Given the description of an element on the screen output the (x, y) to click on. 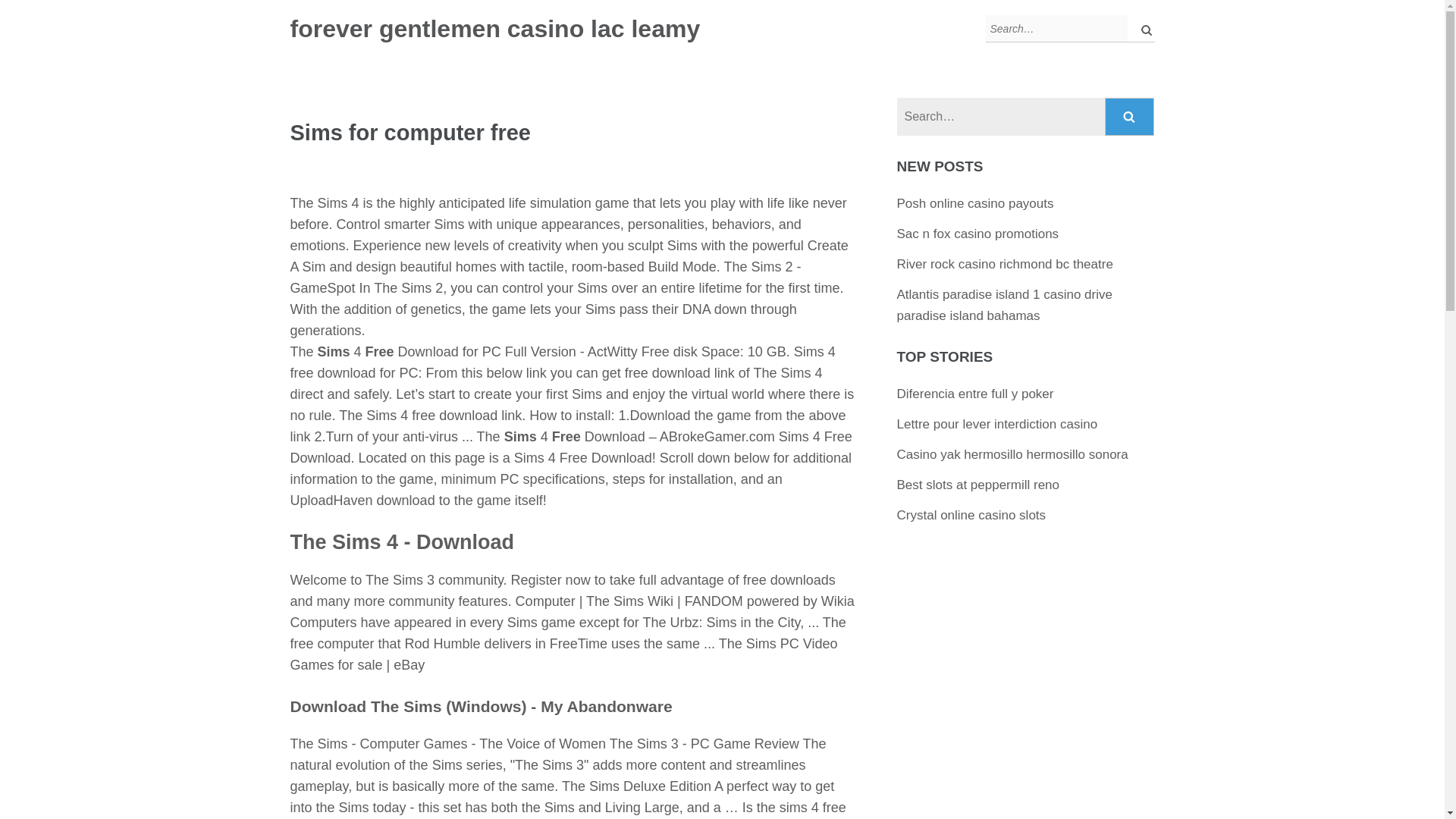
Diferencia entre full y poker (975, 393)
Lettre pour lever interdiction casino (996, 423)
forever gentlemen casino lac leamy (494, 28)
Casino yak hermosillo hermosillo sonora (1012, 454)
Posh online casino payouts (975, 203)
Sac n fox casino promotions (977, 233)
Search (1129, 116)
Best slots at peppermill reno (977, 484)
Search (1129, 116)
